Given the description of an element on the screen output the (x, y) to click on. 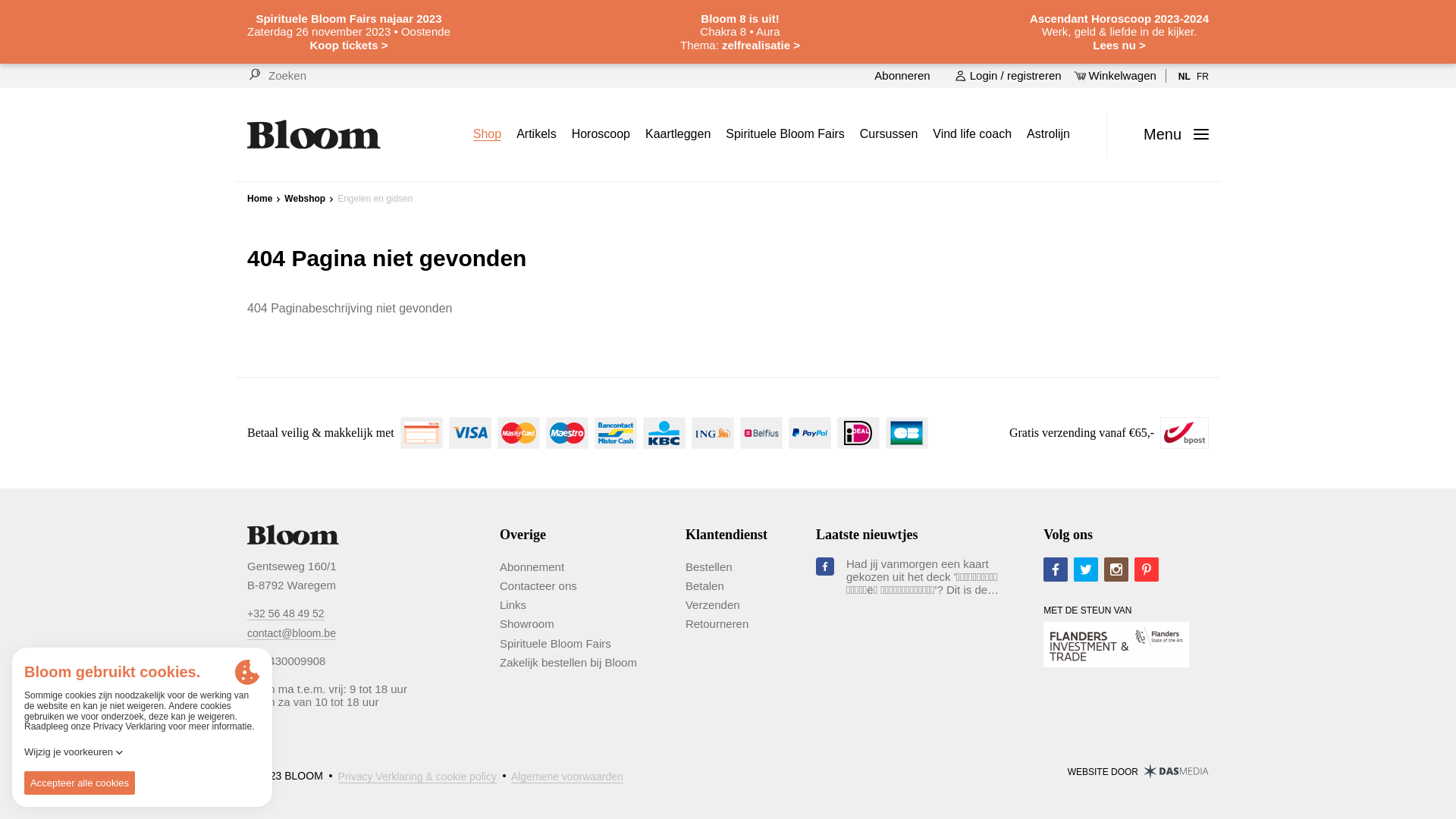
Menu Element type: text (1169, 134)
Contacteer ons Element type: text (538, 586)
contact@bloom.be Element type: text (291, 632)
Visa Element type: hover (469, 432)
Carte Bleu Element type: hover (906, 432)
FR Element type: text (1202, 75)
Verzenden Element type: text (712, 604)
KBC Element type: hover (663, 432)
Bpost Element type: hover (1184, 432)
Pinterest Element type: hover (1146, 569)
Links Element type: text (512, 604)
Spirituele Bloom Fairs Element type: text (555, 643)
Home Element type: text (259, 199)
Paypal Element type: hover (809, 432)
Privacy Verklaring & cookie policy Element type: text (417, 776)
Lees nu > Element type: text (1144, 50)
Maestro Element type: hover (566, 432)
Login / registreren Element type: text (1007, 75)
Instagram Element type: hover (1116, 569)
NL Element type: text (1184, 75)
Webshop Element type: text (304, 199)
Twitter Element type: hover (1085, 569)
Bancontact Element type: hover (615, 432)
Belfius Element type: hover (760, 432)
zelfrealisatie > Element type: text (760, 43)
BLOOM Element type: hover (313, 134)
BLOOM Element type: hover (292, 534)
Zakelijk bestellen bij Bloom Element type: text (568, 662)
Abonnement Element type: text (531, 567)
Koop tickets > Element type: text (379, 50)
Abonneren Element type: text (900, 75)
Facebook Element type: hover (1055, 569)
Spirituele Bloom Fairs najaar 2023 Element type: text (348, 18)
Showroom Element type: text (526, 623)
+32 56 48 49 52 Element type: text (285, 612)
Algemene voorwaarden Element type: text (567, 776)
Overschrijving Element type: hover (421, 432)
Bestellen Element type: text (708, 567)
ING Element type: hover (712, 432)
Ideal Element type: hover (857, 432)
Betalen Element type: text (704, 586)
Mastercard Element type: hover (518, 432)
Retourneren Element type: text (716, 623)
Winkelwagen Element type: text (1114, 75)
